Given the description of an element on the screen output the (x, y) to click on. 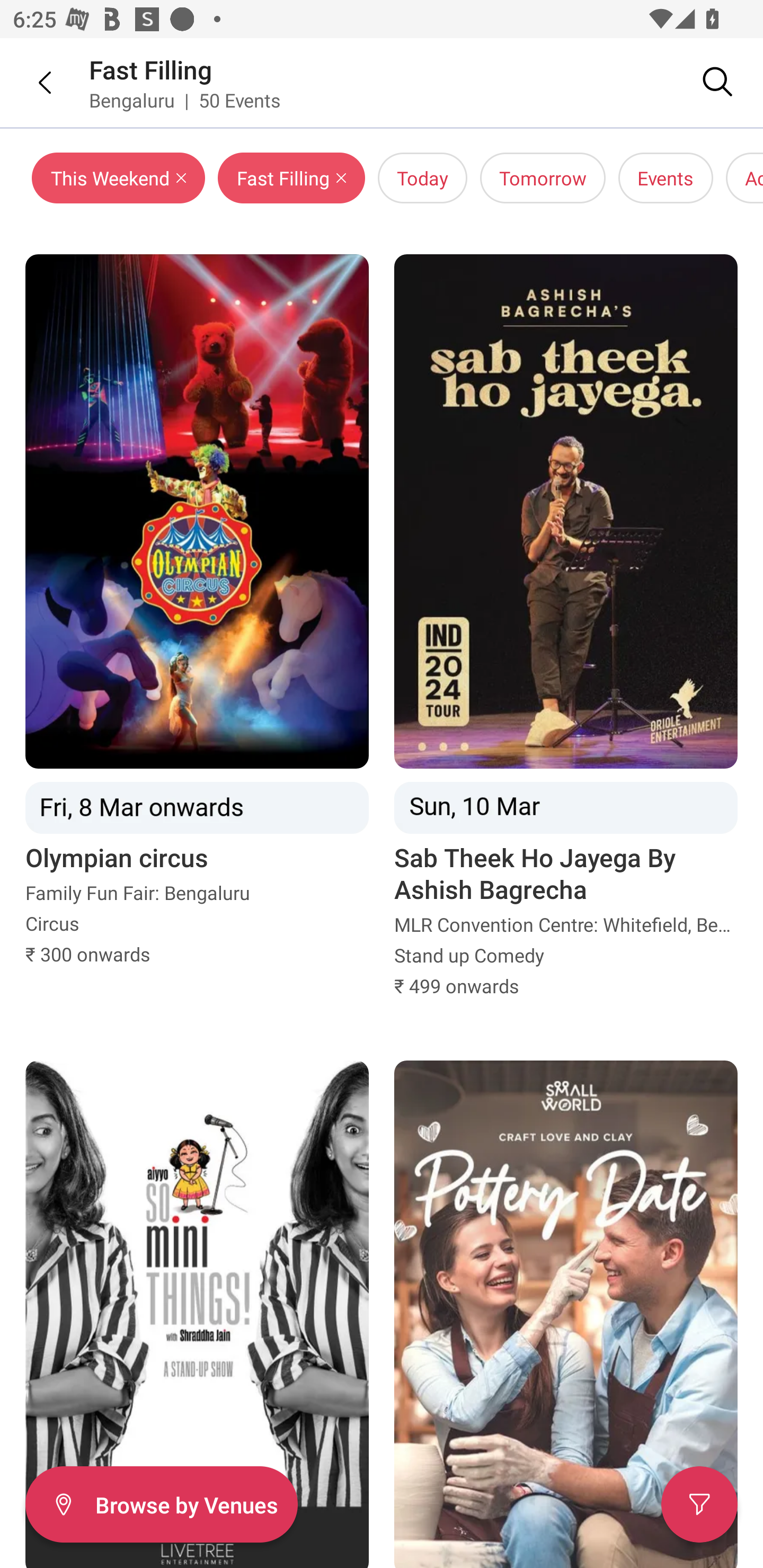
Back (31, 82)
Fast Filling (150, 68)
Bengaluru  |  50 Events (185, 99)
This Weekend Close (118, 177)
Fast Filling Close (290, 177)
Today (421, 177)
Tomorrow (542, 177)
Events (665, 177)
Filter Browse by Venues (161, 1504)
Filter (699, 1504)
